Given the description of an element on the screen output the (x, y) to click on. 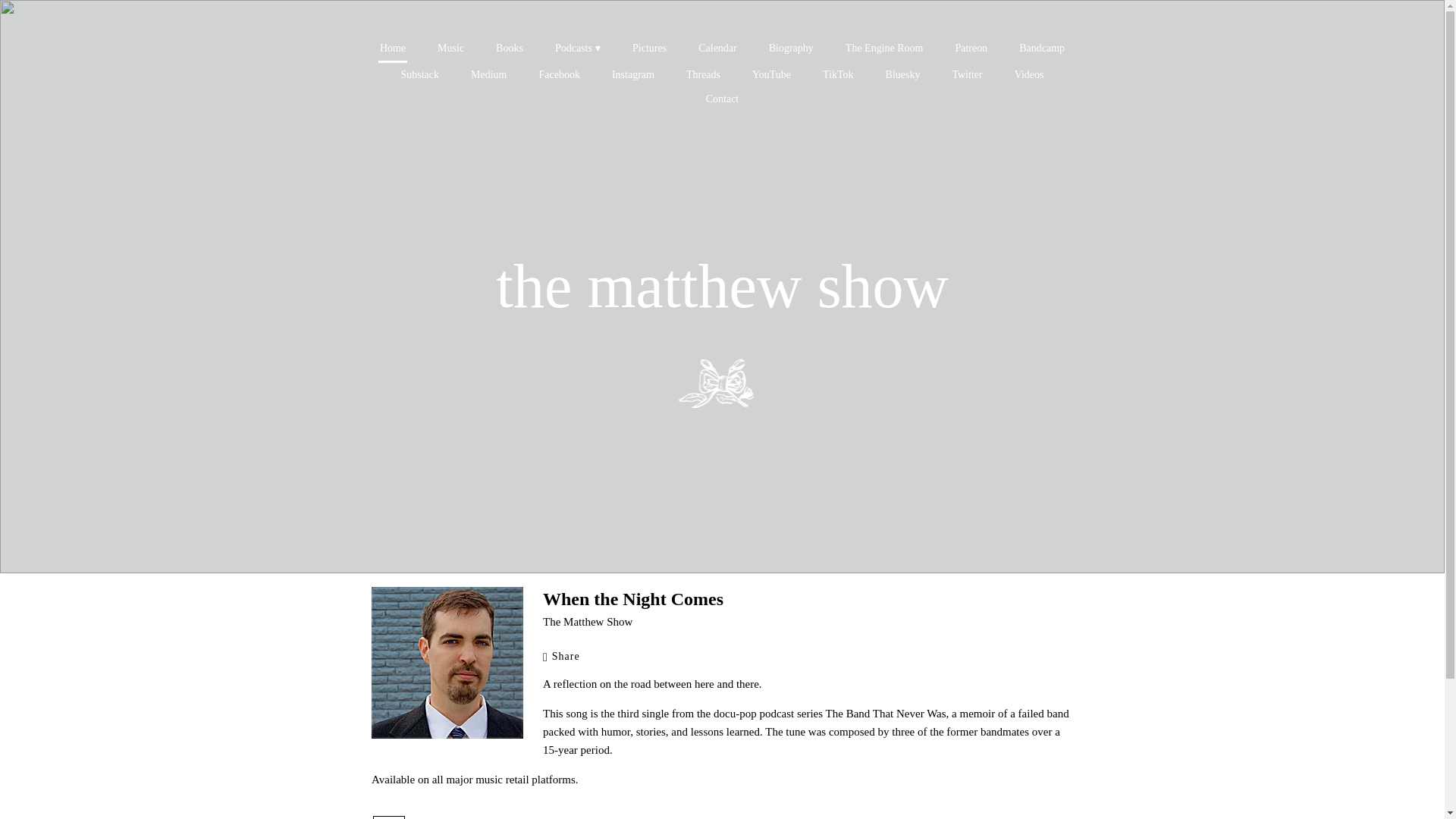
Patreon (970, 48)
Books (509, 48)
Medium (488, 74)
Home (392, 49)
Share When the Night Comes (569, 656)
Music (450, 48)
Biography (791, 48)
Calendar (717, 48)
Bandcamp (1041, 48)
